Given the description of an element on the screen output the (x, y) to click on. 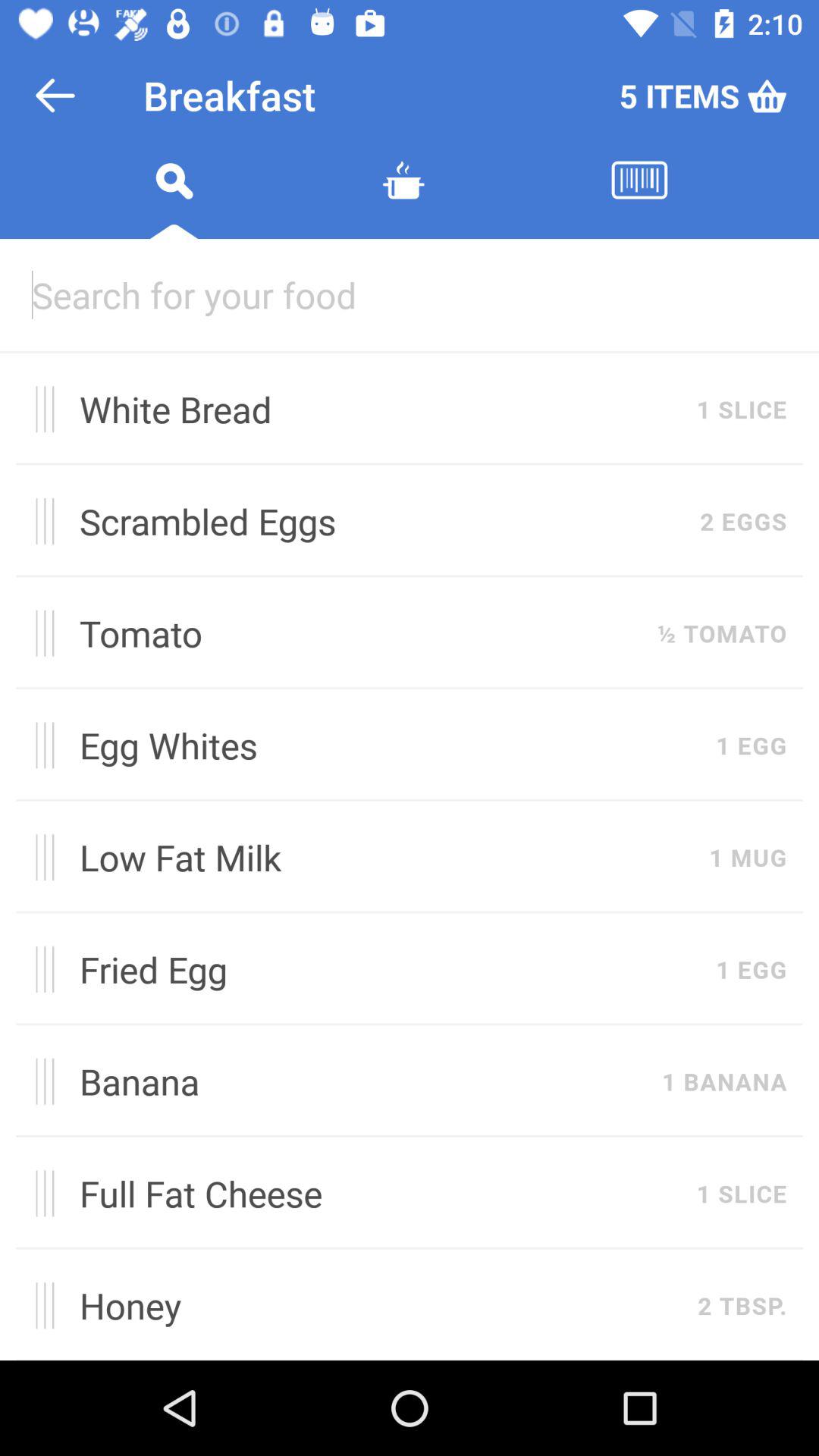
go to upc (639, 198)
